Given the description of an element on the screen output the (x, y) to click on. 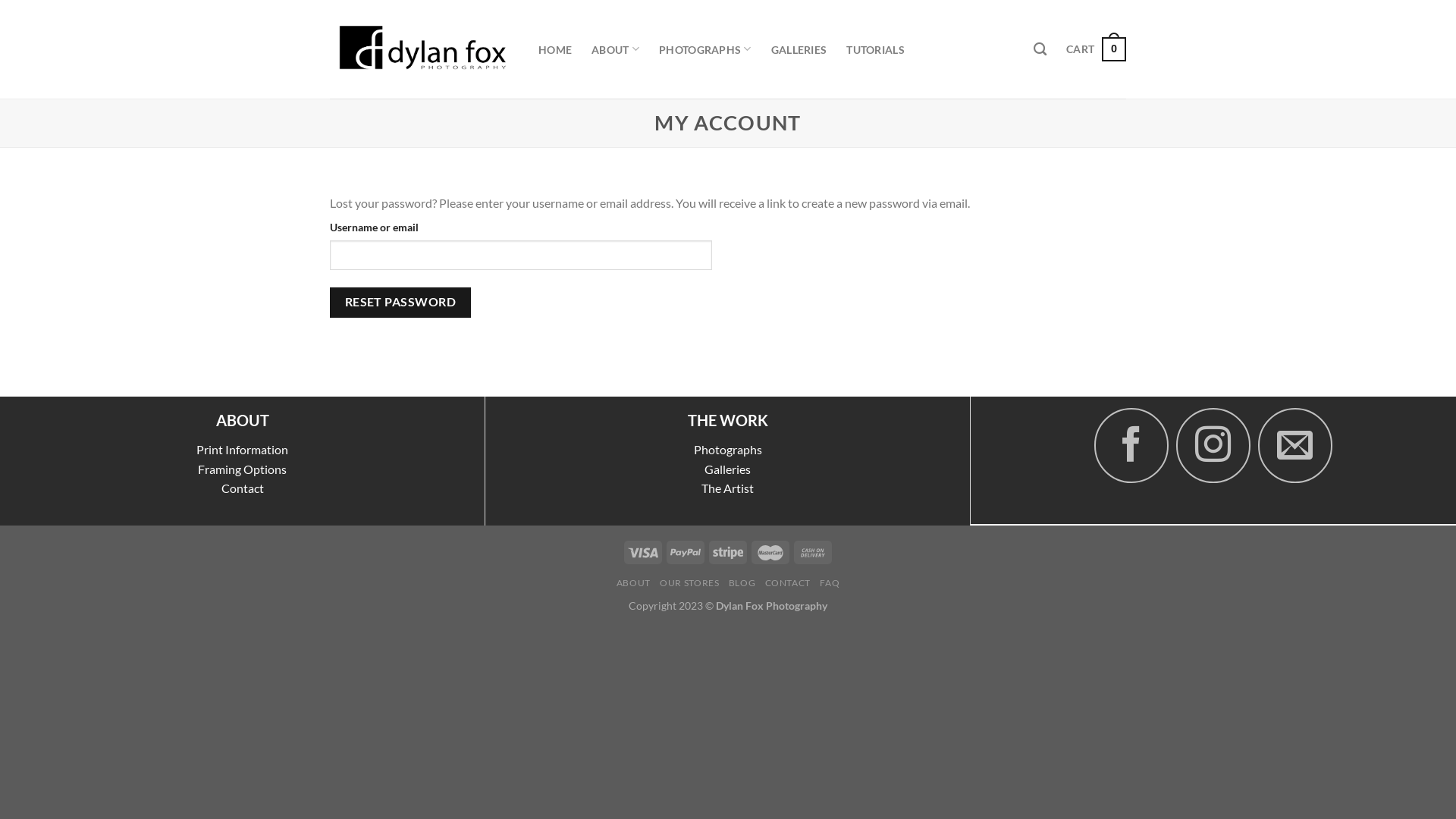
CONTACT Element type: text (787, 582)
Contact Element type: text (242, 487)
GALLERIES Element type: text (799, 48)
RESET PASSWORD Element type: text (399, 301)
FAQ Element type: text (829, 582)
Framing Options Element type: text (241, 468)
The Artist Element type: text (727, 487)
PHOTOGRAPHS Element type: text (704, 48)
CART
0 Element type: text (1096, 49)
OUR STORES Element type: text (688, 582)
BLOG Element type: text (741, 582)
ABOUT Element type: text (633, 582)
Print Information Element type: text (242, 449)
Photographs Element type: text (727, 449)
TUTORIALS Element type: text (875, 48)
Galleries Element type: text (727, 468)
HOME Element type: text (554, 48)
ABOUT Element type: text (615, 48)
